Given the description of an element on the screen output the (x, y) to click on. 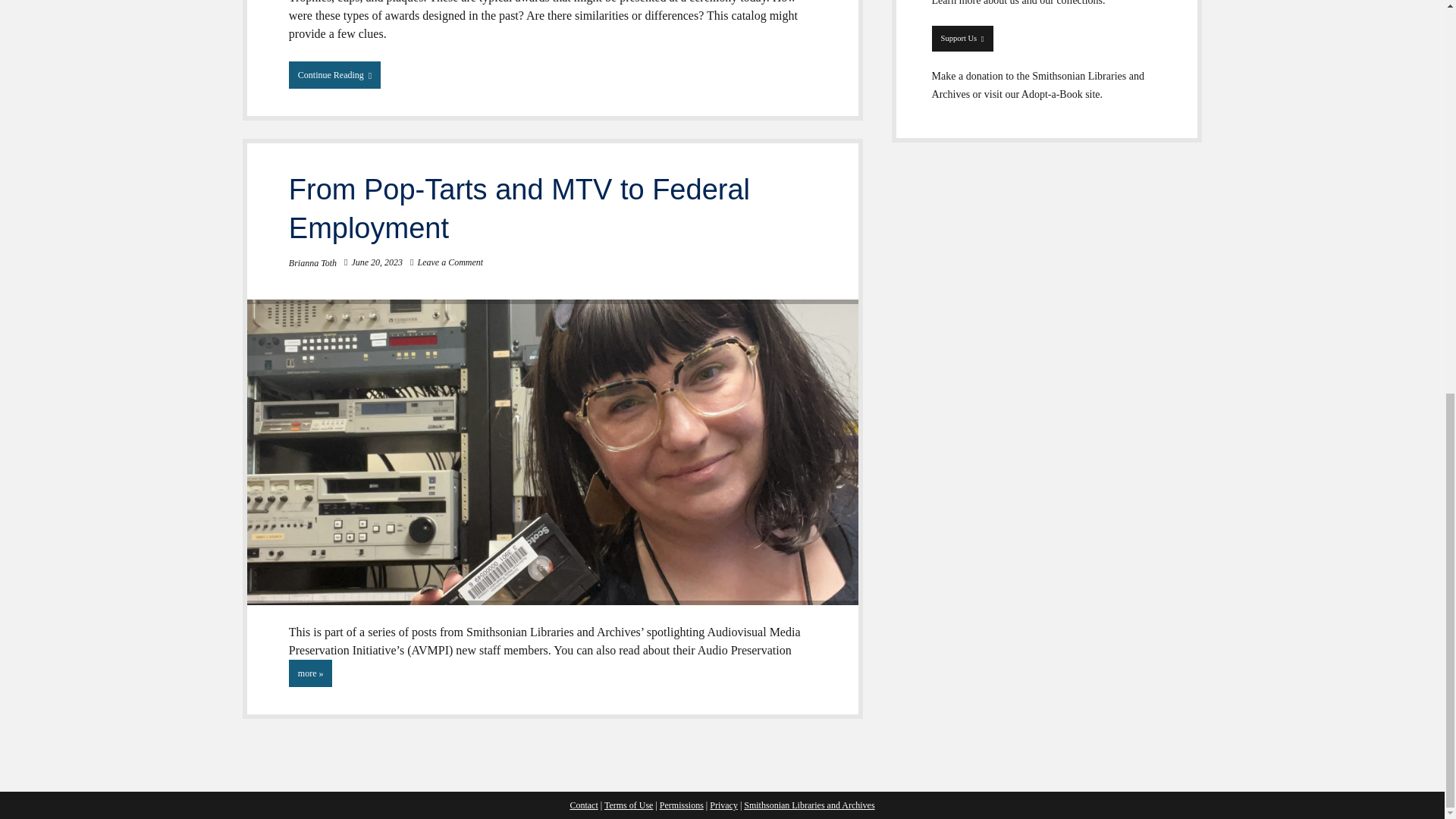
Contact (582, 805)
Brianna Toth (312, 262)
Privacy (724, 805)
Terms of Use (961, 38)
June 20, 2023 (628, 805)
From Pop-Tarts and MTV to Federal Employment (376, 262)
Smithsonian Libraries and Archives (518, 208)
Permissions (809, 805)
From Pop-Tarts and MTV to Federal Employment (681, 805)
